Given the description of an element on the screen output the (x, y) to click on. 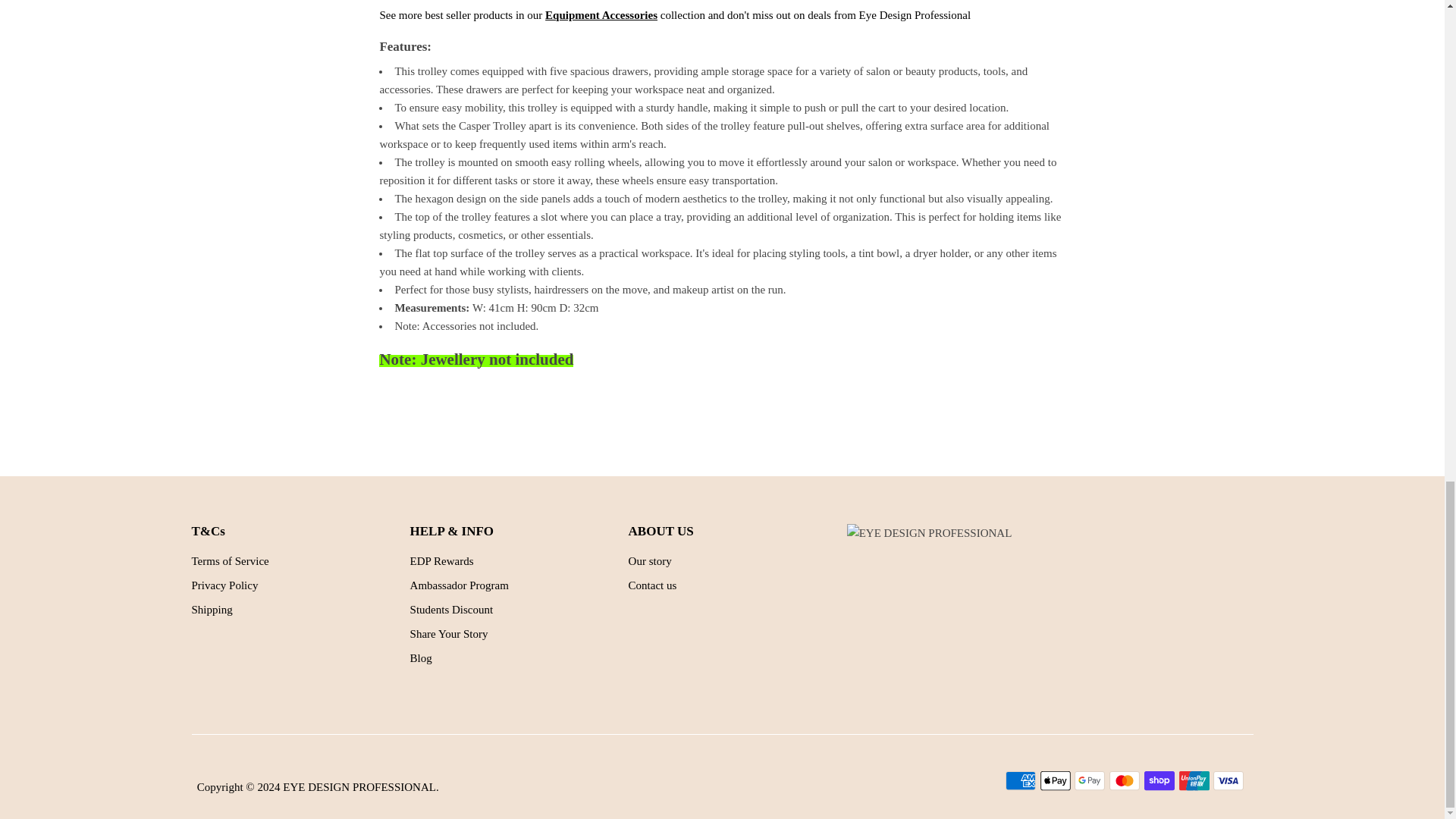
American Express (1020, 780)
Google Pay (1089, 780)
Apple Pay (1055, 780)
